Given the description of an element on the screen output the (x, y) to click on. 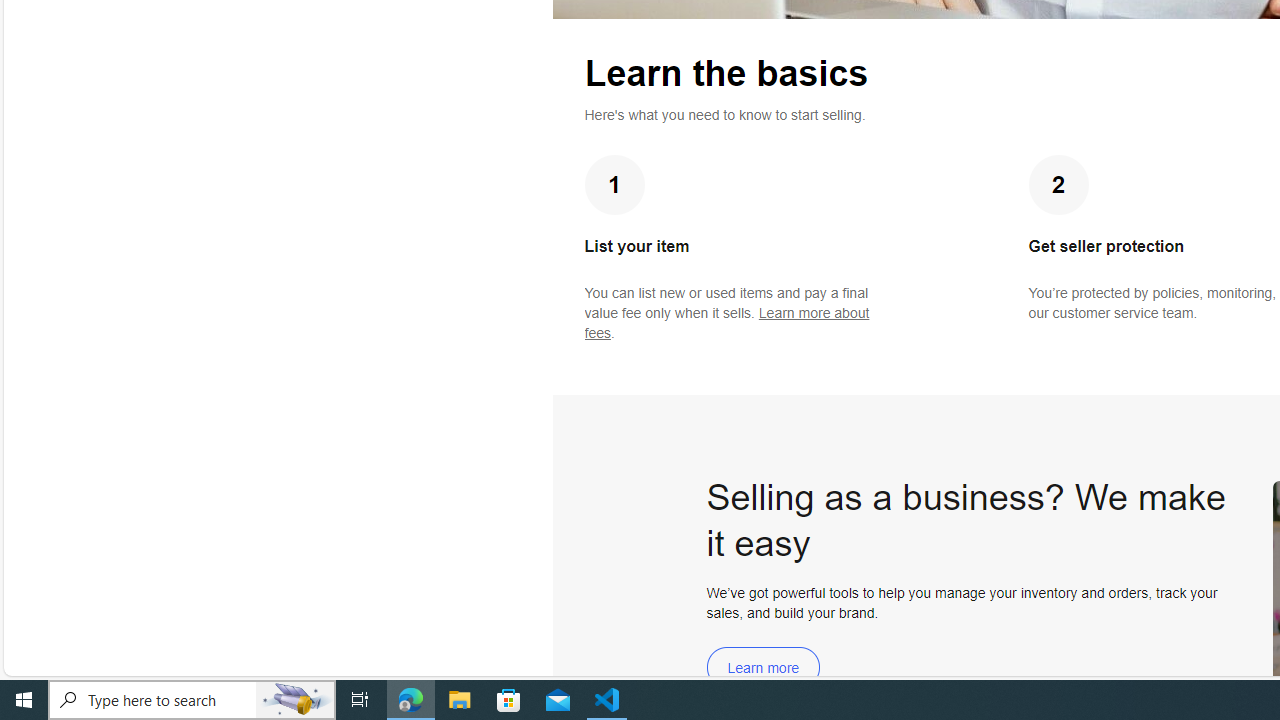
Learn more (763, 667)
Learn more about fees - opens in new window or tab. (726, 323)
